Given the description of an element on the screen output the (x, y) to click on. 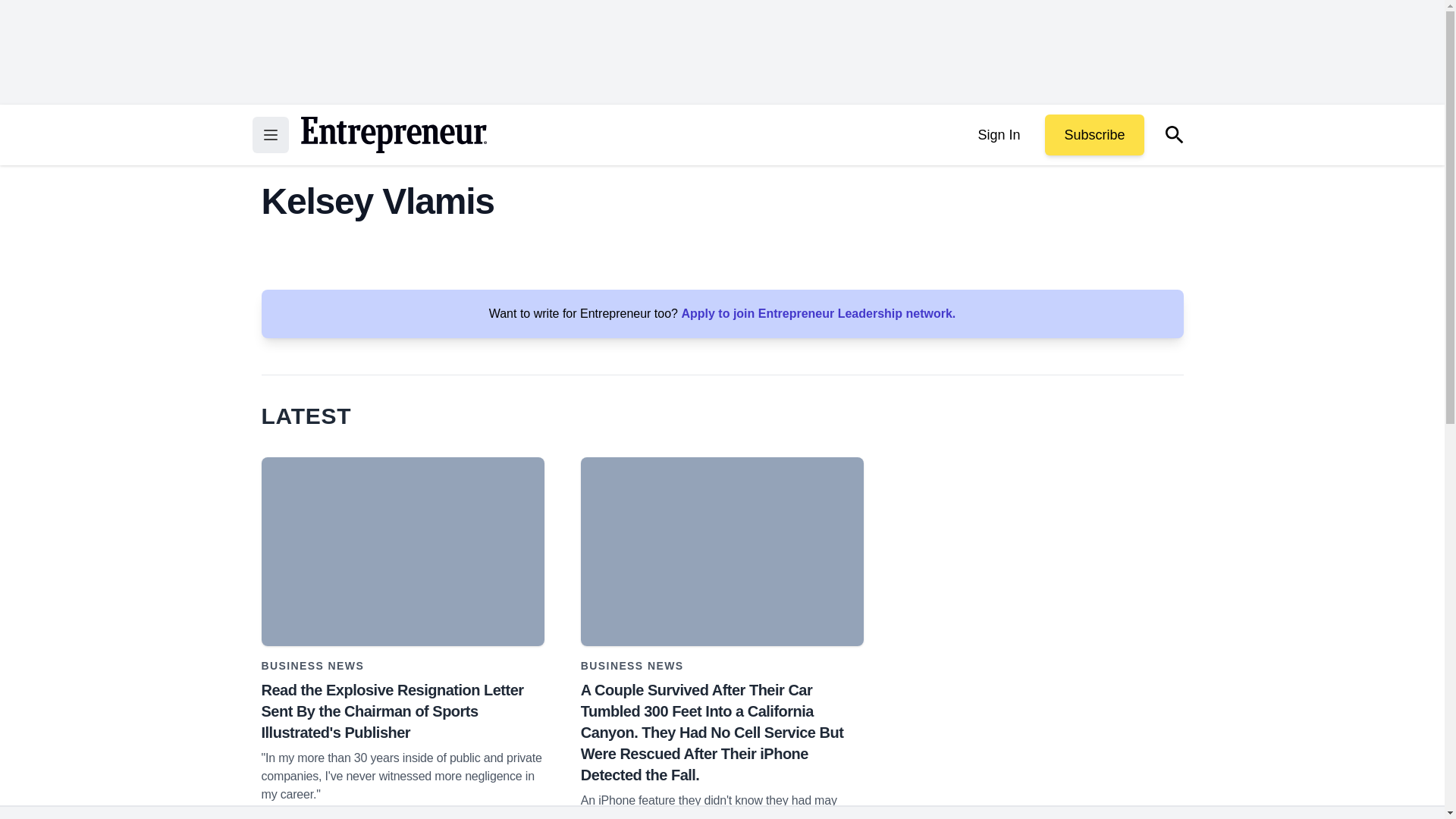
Return to the home page (392, 135)
Subscribe (1093, 134)
Sign In (998, 134)
